Given the description of an element on the screen output the (x, y) to click on. 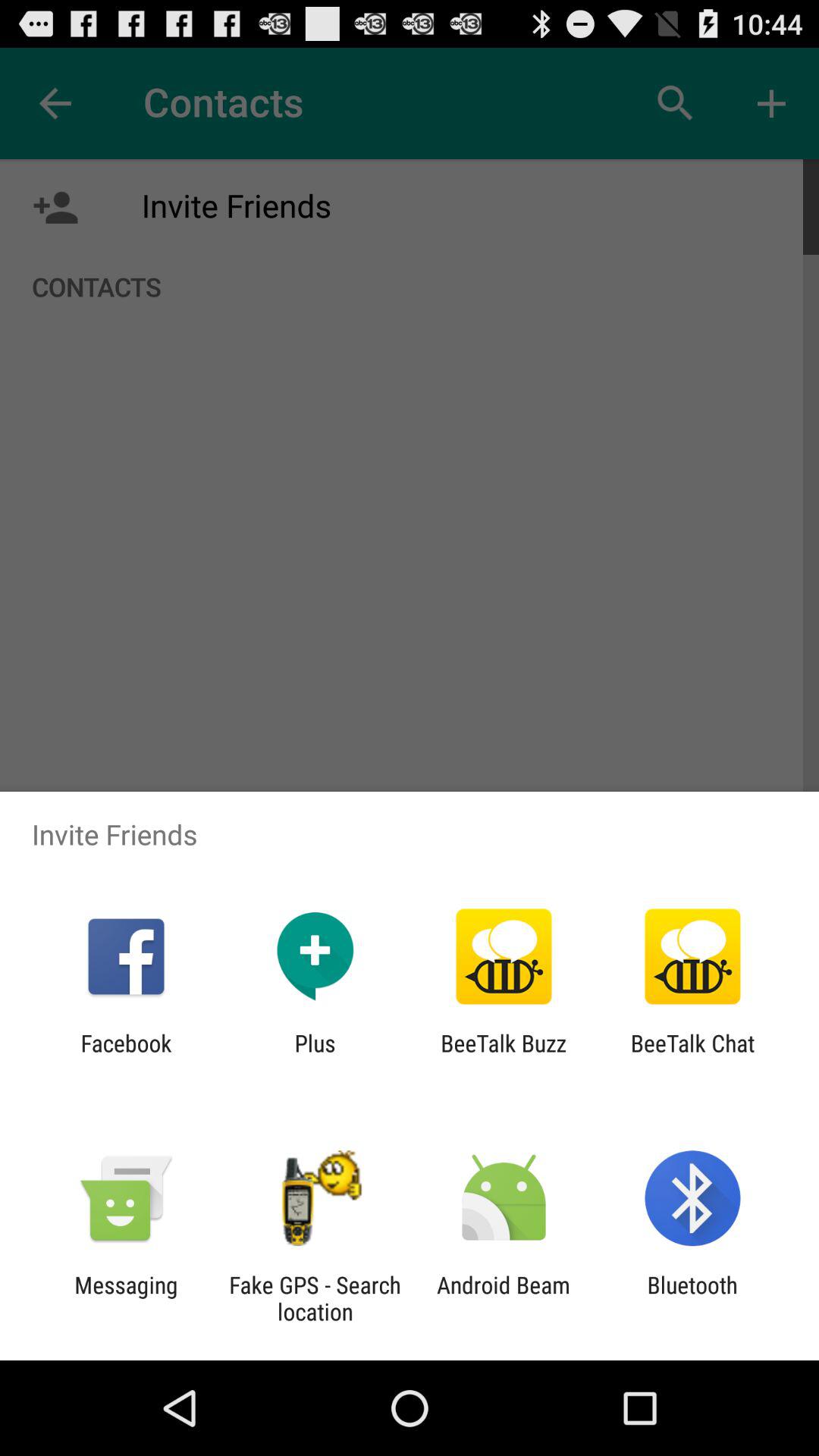
swipe to the fake gps search app (314, 1298)
